Given the description of an element on the screen output the (x, y) to click on. 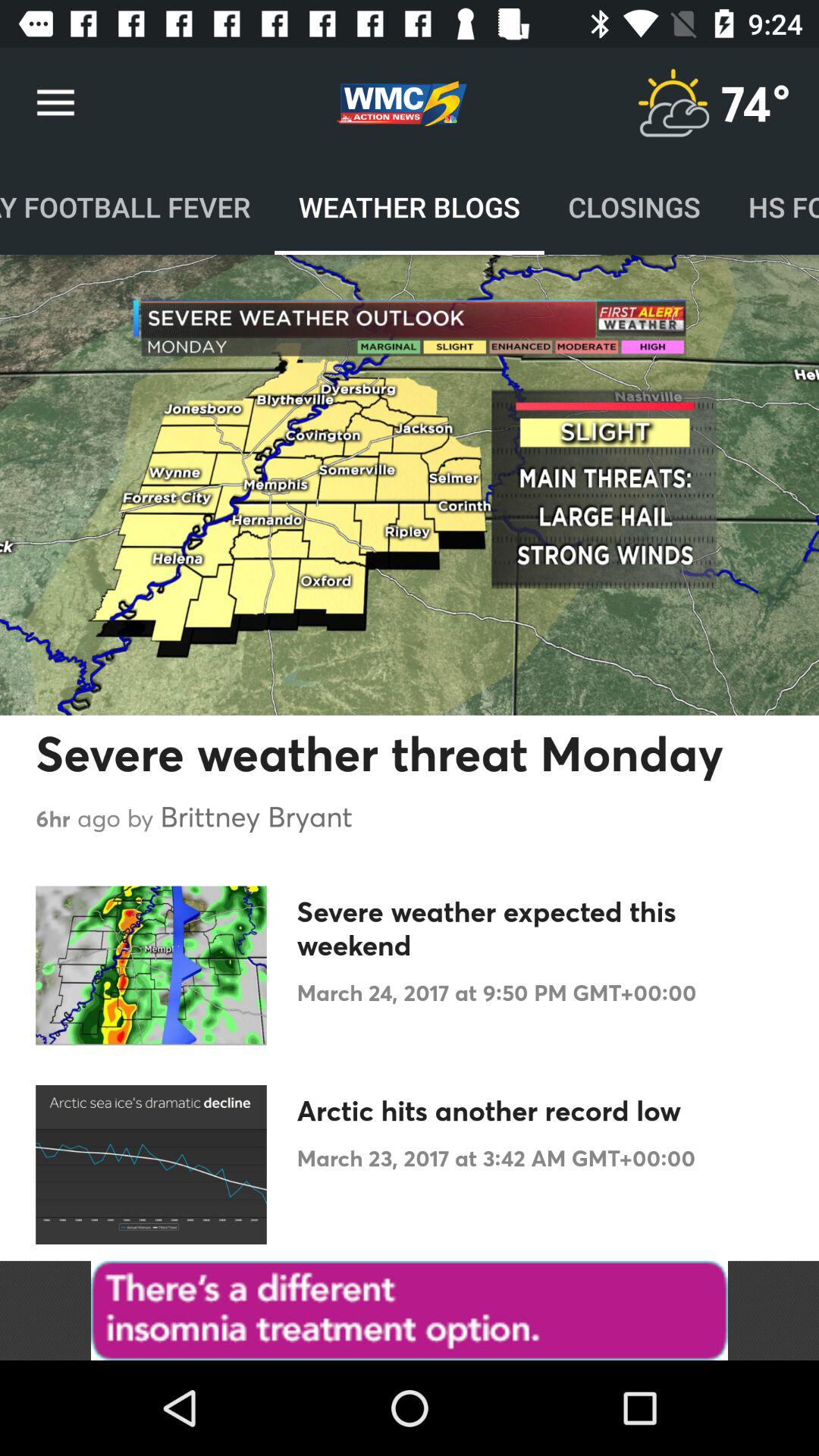
advertisement (409, 1310)
